Given the description of an element on the screen output the (x, y) to click on. 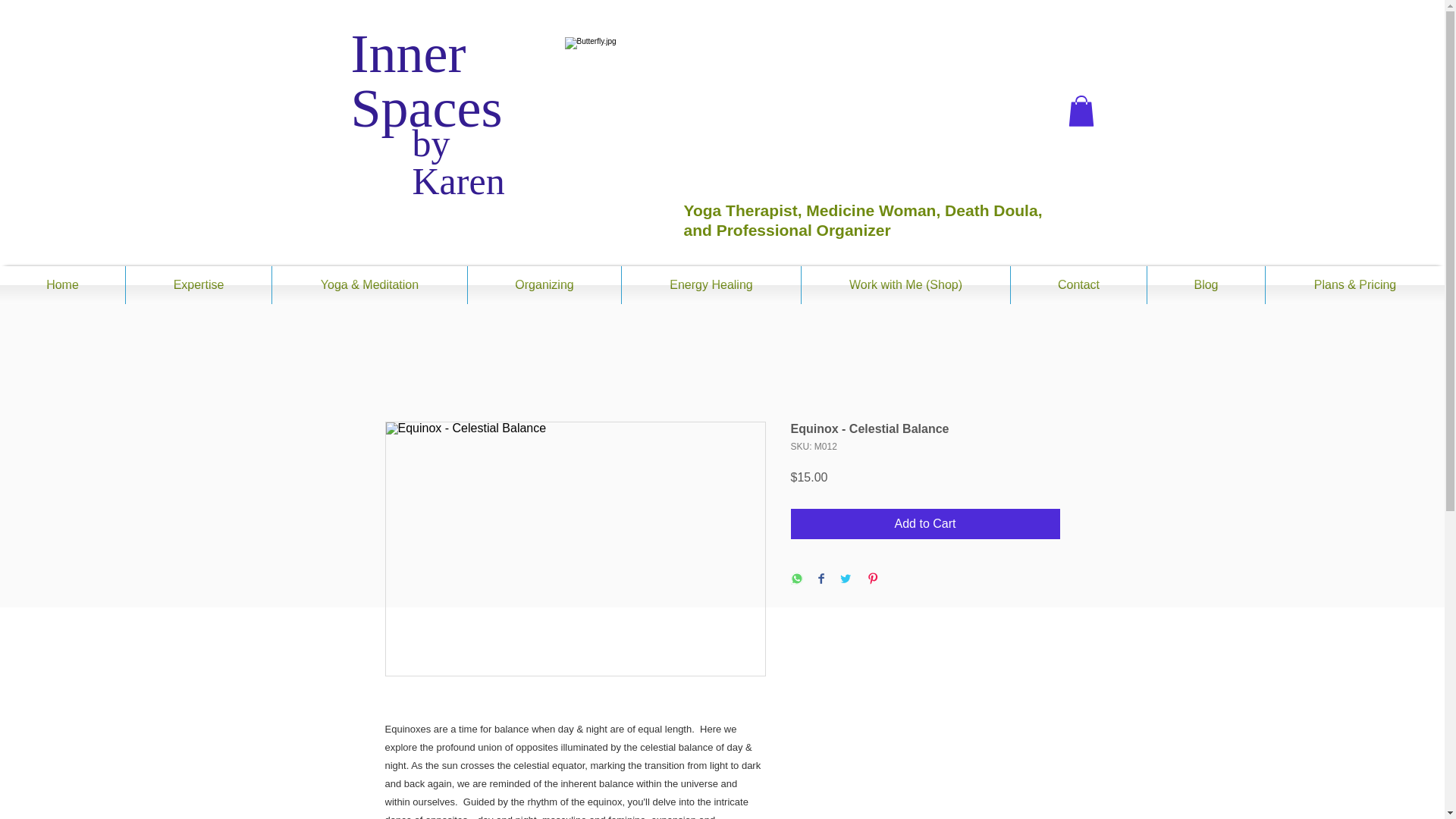
Contact (1078, 284)
Add to Cart (924, 523)
Blog (1206, 284)
Home (62, 284)
